Given the description of an element on the screen output the (x, y) to click on. 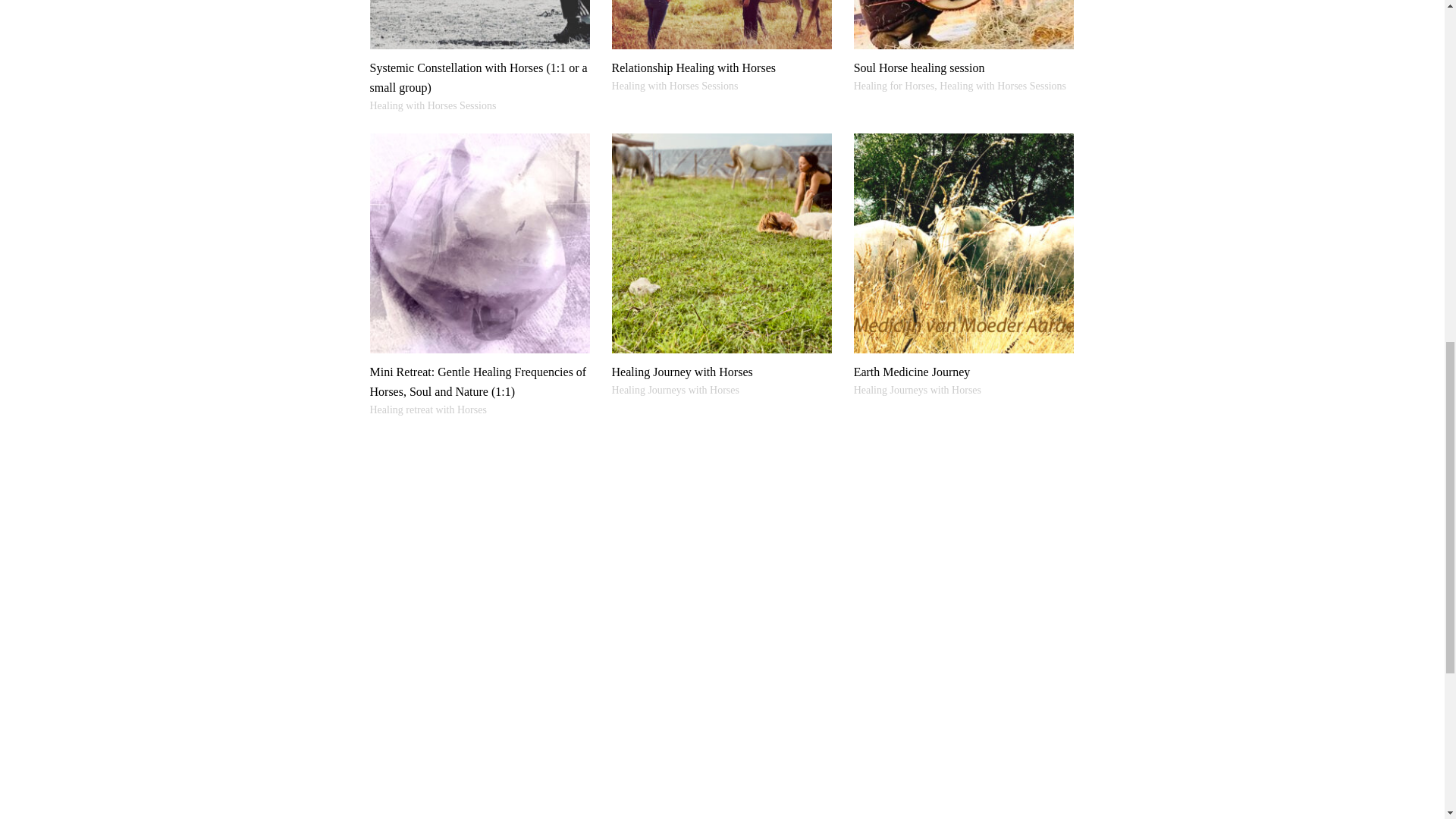
Healing with Horses Sessions (432, 106)
